Given the description of an element on the screen output the (x, y) to click on. 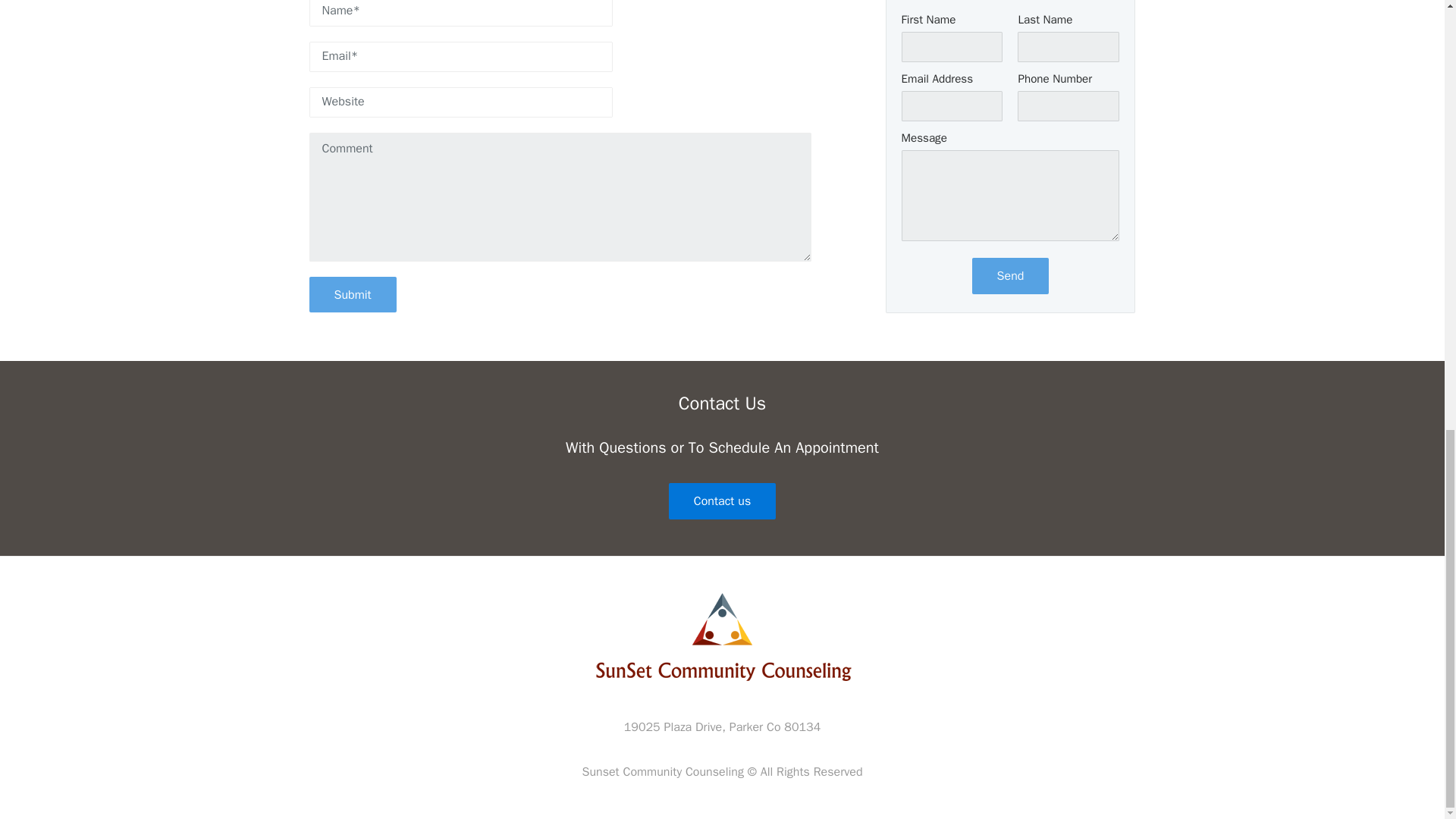
Submit (352, 294)
Contact us (722, 501)
